Given the description of an element on the screen output the (x, y) to click on. 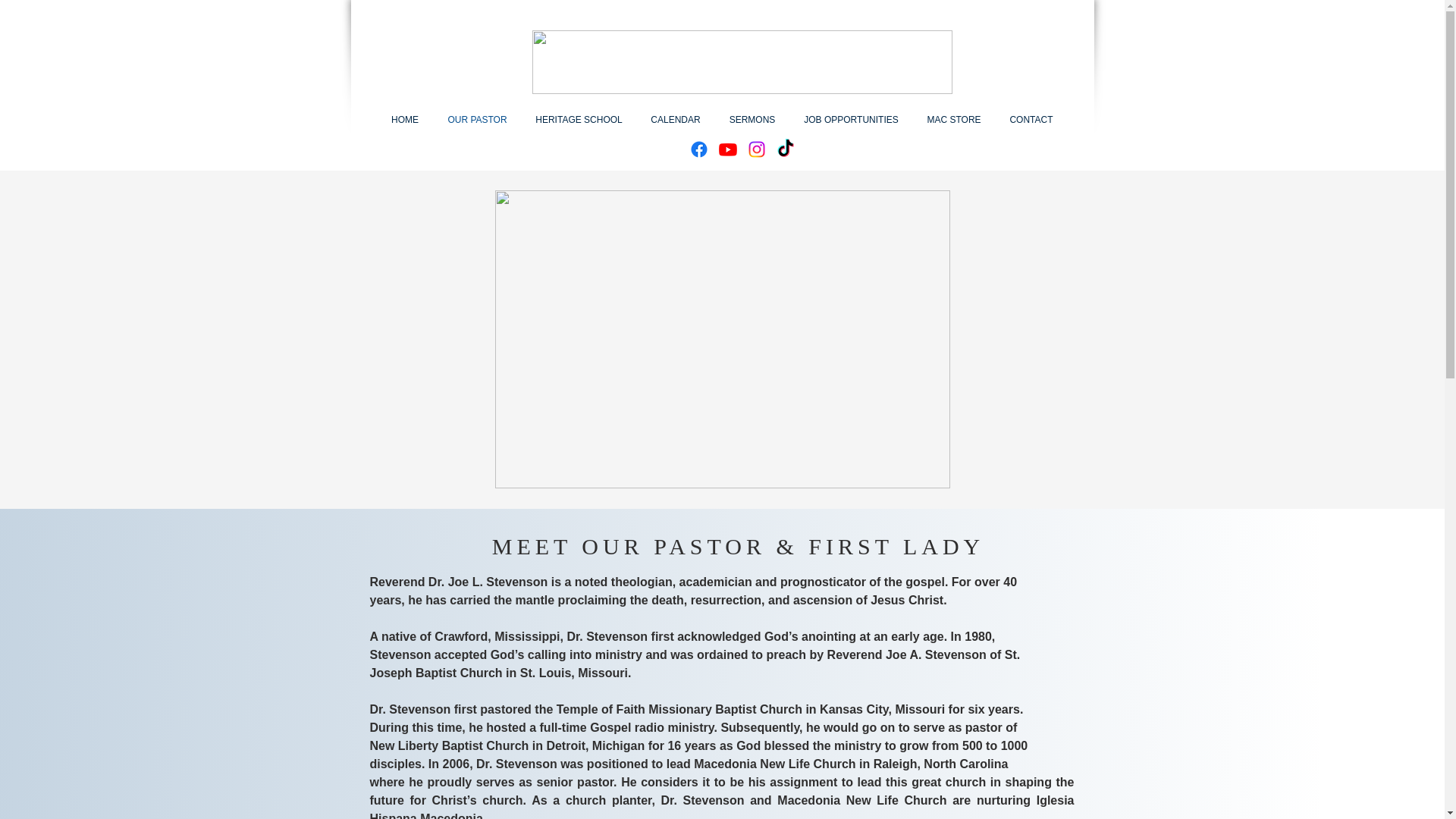
JOB OPPORTUNITIES (851, 119)
OUR PASTOR (477, 119)
HERITAGE SCHOOL (579, 119)
SERMONS (751, 119)
CALENDAR (675, 119)
MAC STORE (953, 119)
HOME (403, 119)
CONTACT (1030, 119)
fFullMacLogo copy.png (742, 62)
